Given the description of an element on the screen output the (x, y) to click on. 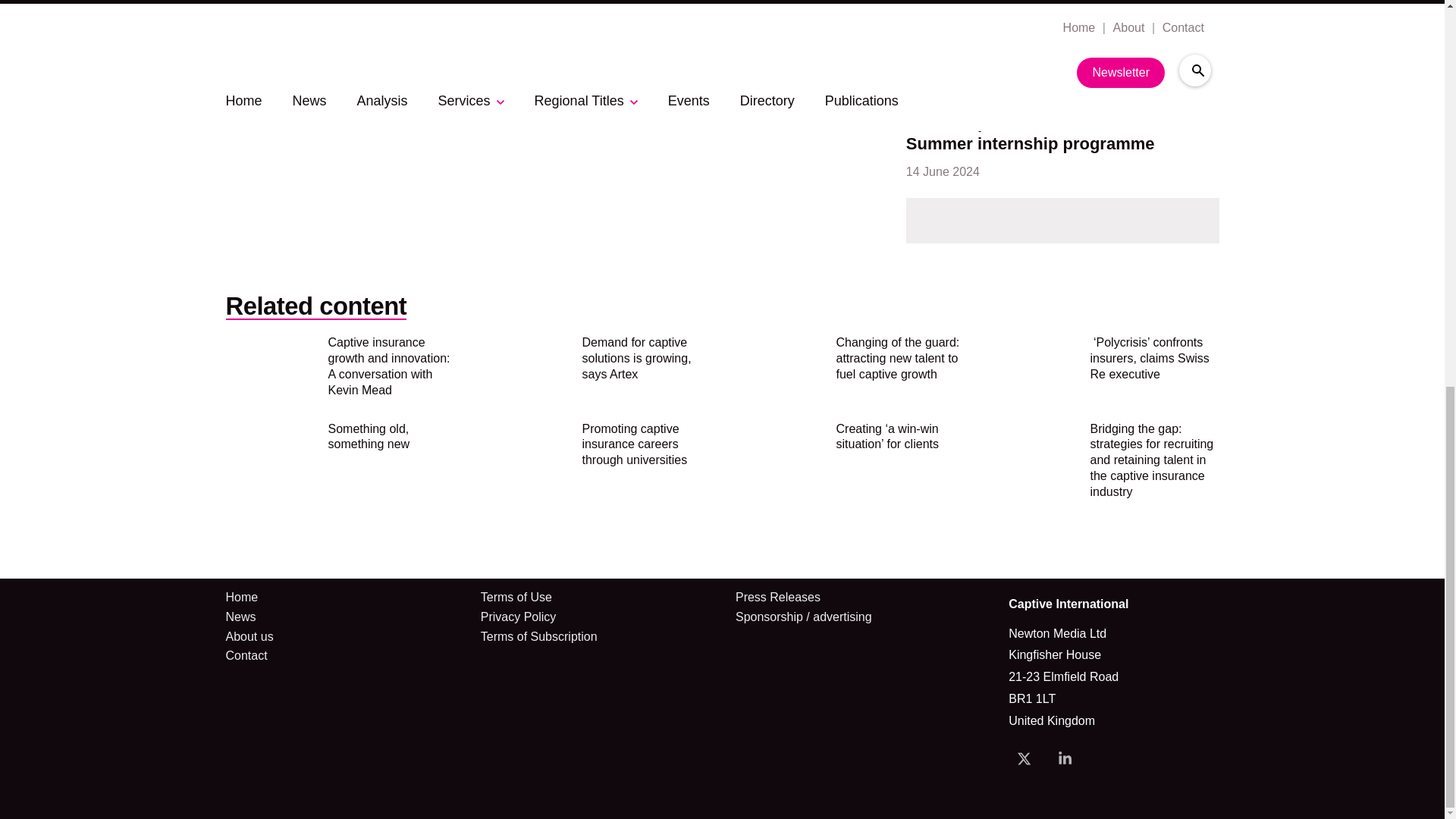
Mosaic opens doors for fourth Summer internship programme (1029, 134)
